Given the description of an element on the screen output the (x, y) to click on. 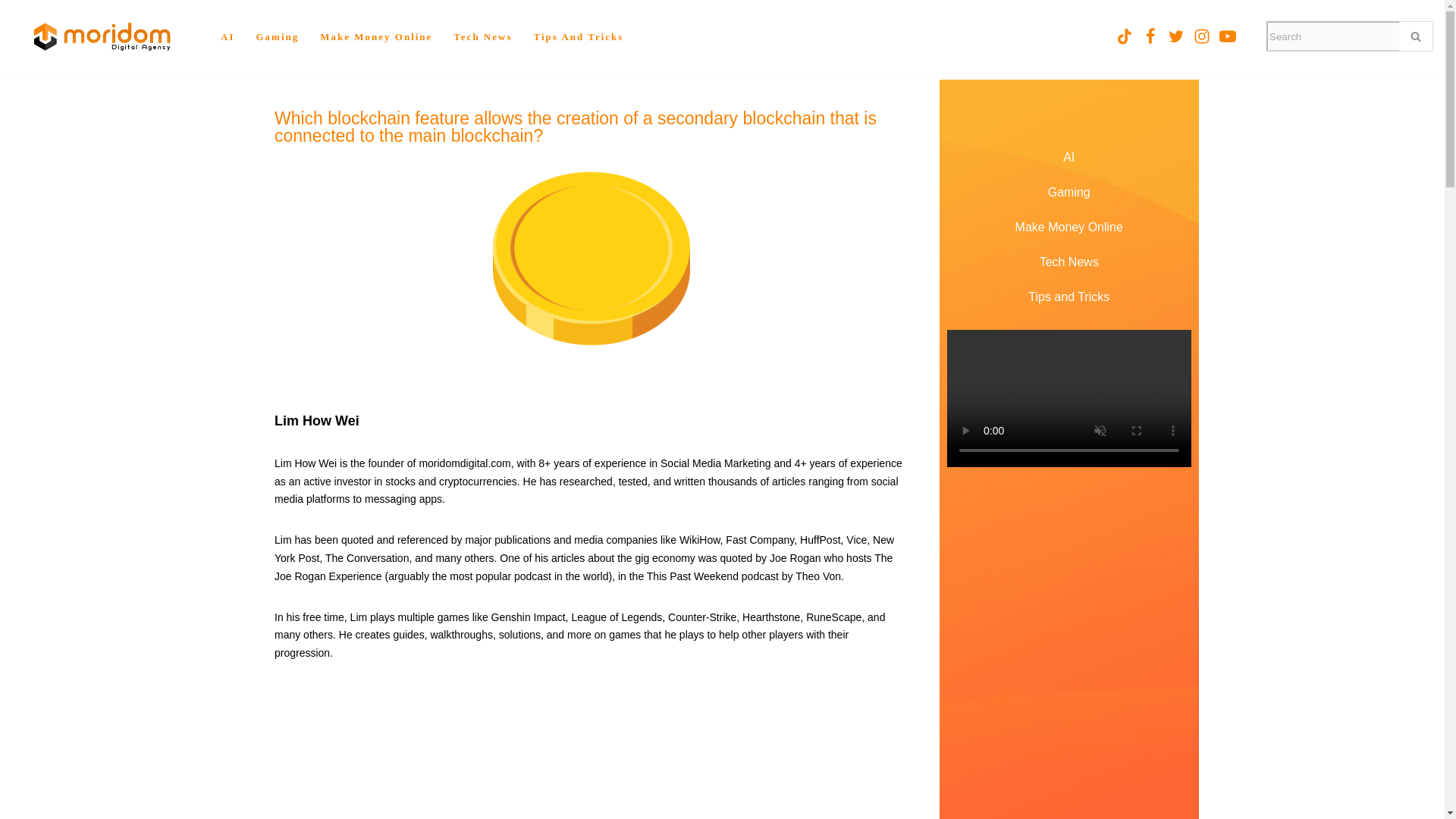
Youtube (1228, 36)
TikTok (1124, 36)
AI (227, 36)
Gaming (277, 36)
Facebook (1149, 36)
Make Money Online (376, 36)
Tech News (1069, 262)
Skip to content (11, 31)
Make Money Online (1069, 226)
Tech News (482, 36)
Twitter (1176, 36)
Gaming (1069, 192)
Instagram (1201, 36)
Tips And Tricks (577, 36)
